Given the description of an element on the screen output the (x, y) to click on. 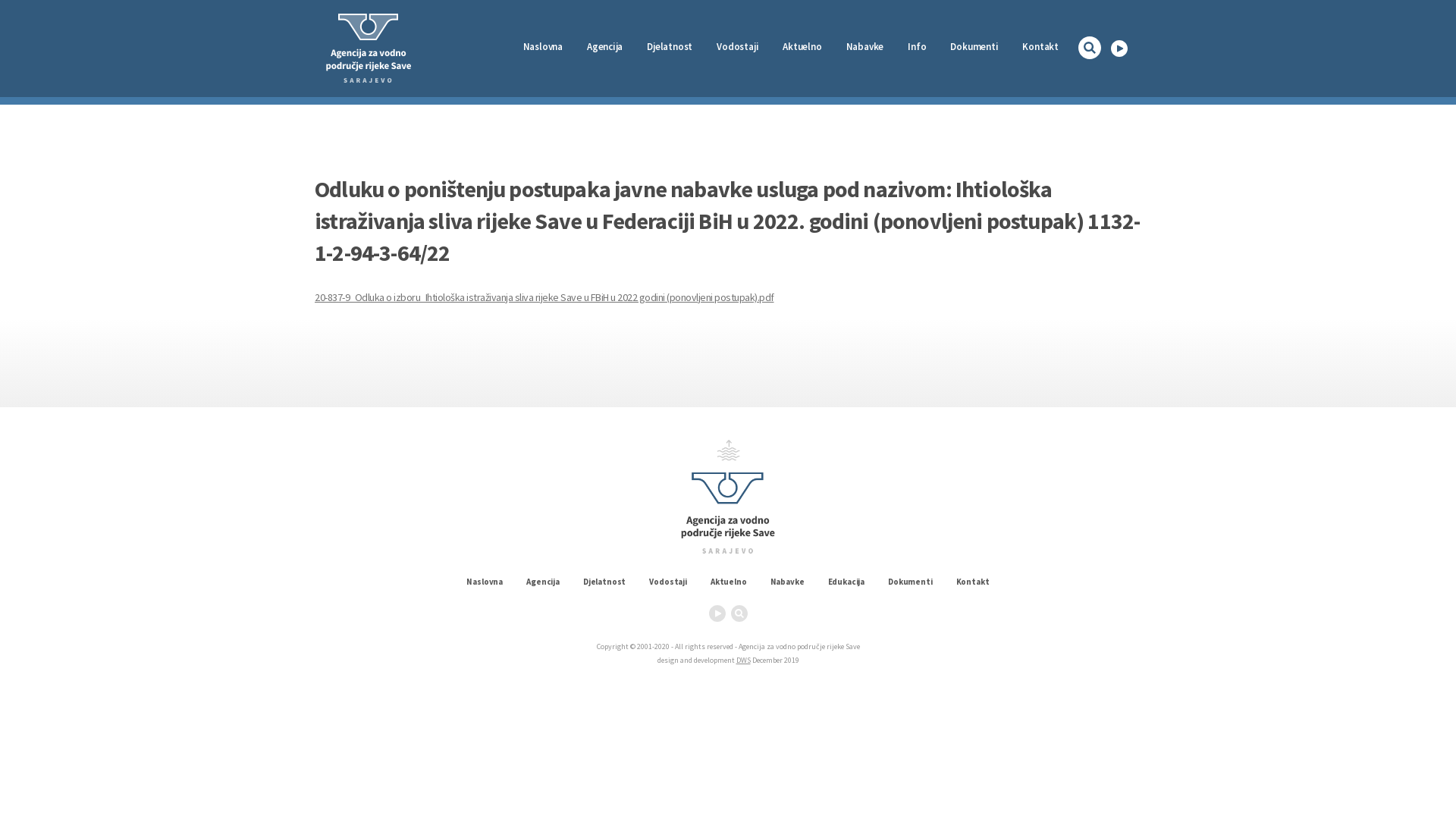
Kontakt Element type: text (972, 581)
Agencija Element type: text (604, 46)
Edukacija Element type: text (846, 581)
Nabavke Element type: text (865, 46)
Nabavke Element type: text (787, 581)
Dokumenti Element type: text (973, 46)
Info Element type: text (916, 46)
Vodostaji Element type: text (668, 581)
Aktuelno Element type: text (801, 46)
Dokumenti Element type: text (910, 581)
Djelatnost Element type: text (604, 581)
Aktuelno Element type: text (728, 581)
Kontakt Element type: text (1040, 46)
DWS Element type: text (742, 660)
Naslovna Element type: text (484, 581)
Naslovna Element type: text (542, 46)
Agencija Element type: text (542, 581)
